Given the description of an element on the screen output the (x, y) to click on. 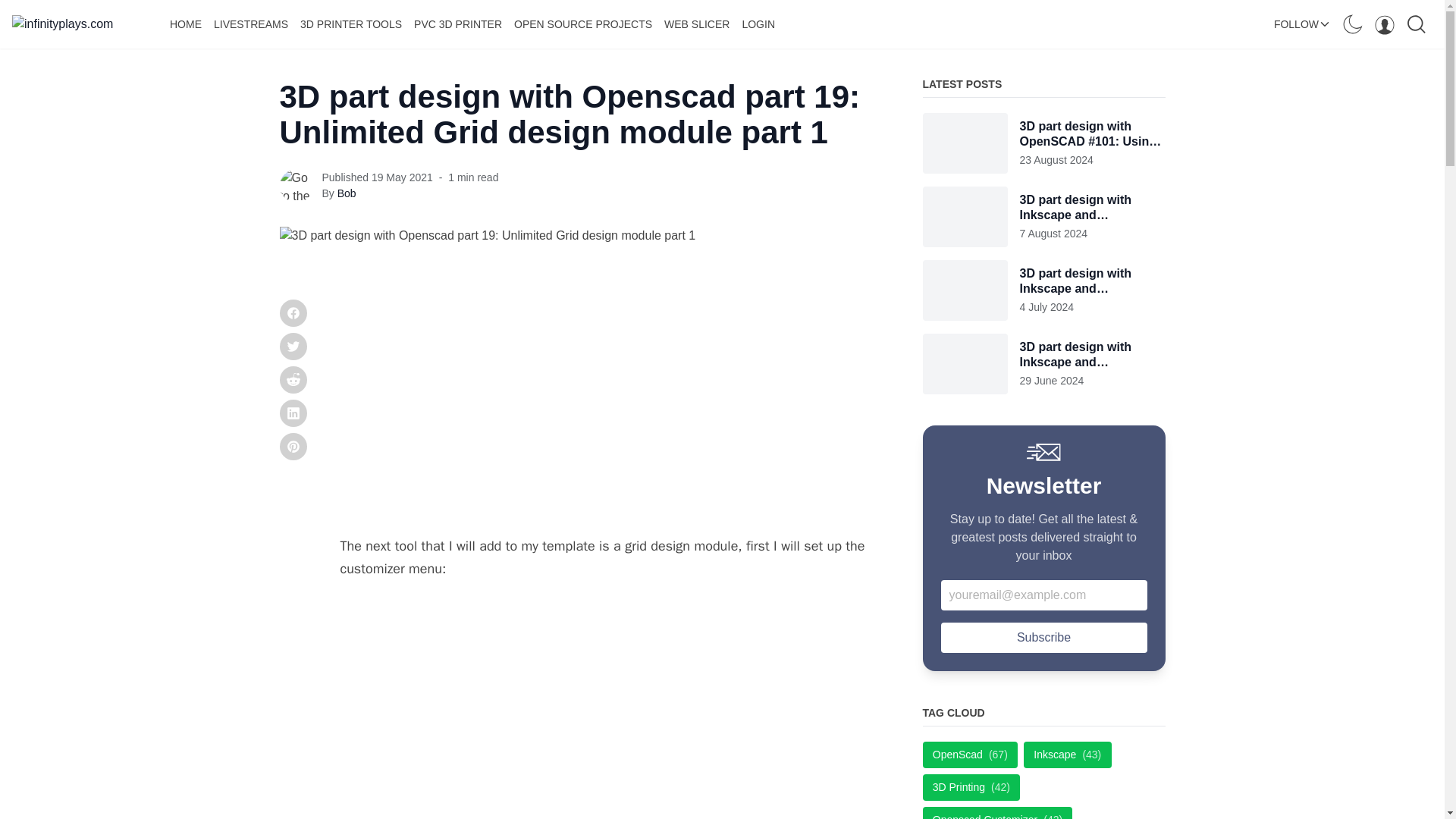
HOME (185, 24)
Bob (346, 192)
WEB SLICER (696, 24)
Subscribe (1043, 637)
LIVESTREAMS (251, 24)
LOGIN (757, 24)
PVC 3D PRINTER (457, 24)
Go to the profile of Bob  (296, 184)
3D PRINTER TOOLS (350, 24)
OPEN SOURCE PROJECTS (583, 24)
